Given the description of an element on the screen output the (x, y) to click on. 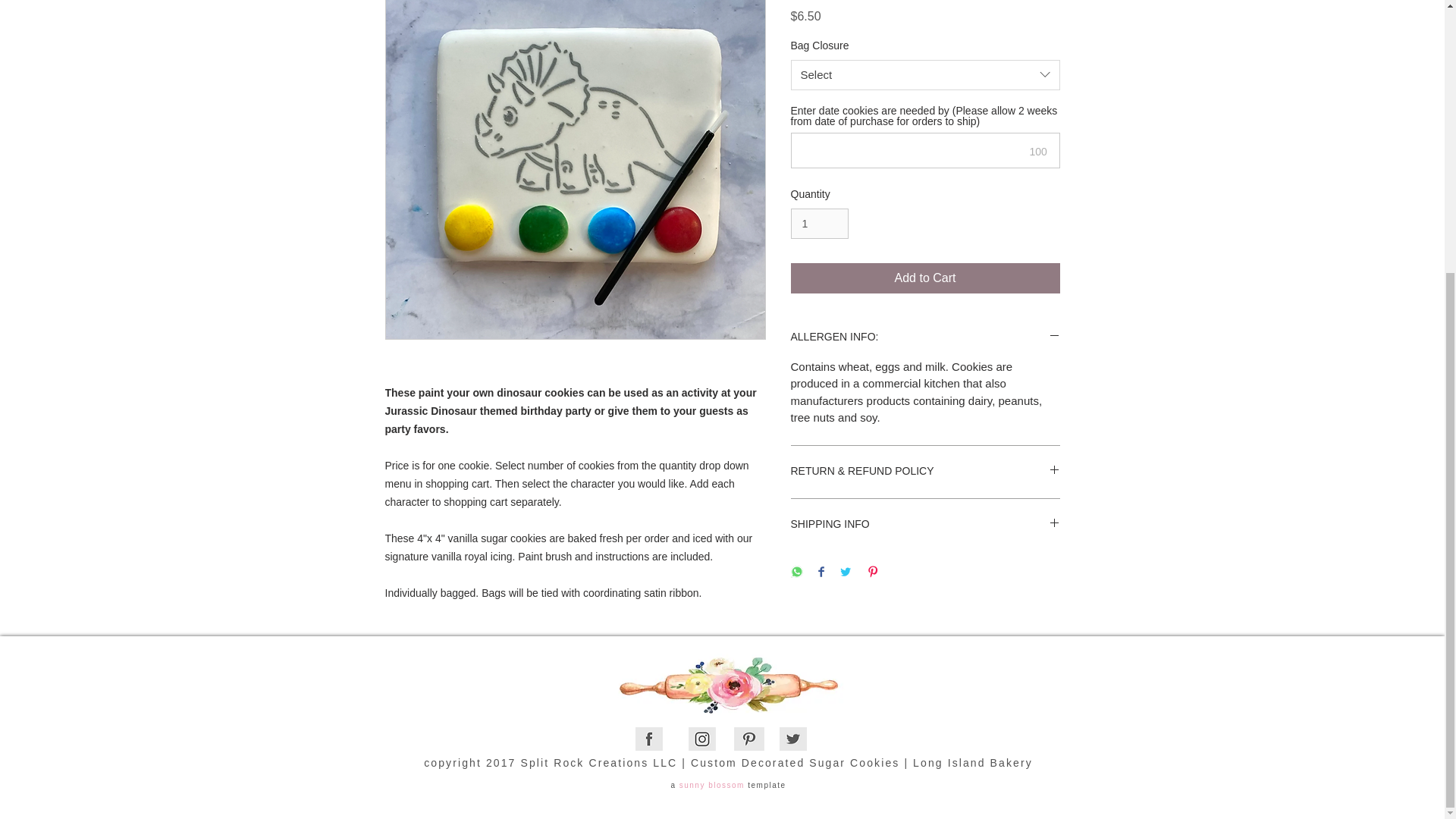
template (767, 785)
sunny blossom (711, 785)
a (673, 785)
ALLERGEN INFO: (924, 337)
1 (818, 223)
Add to Cart (924, 277)
Select (924, 74)
SHIPPING INFO (924, 524)
